Given the description of an element on the screen output the (x, y) to click on. 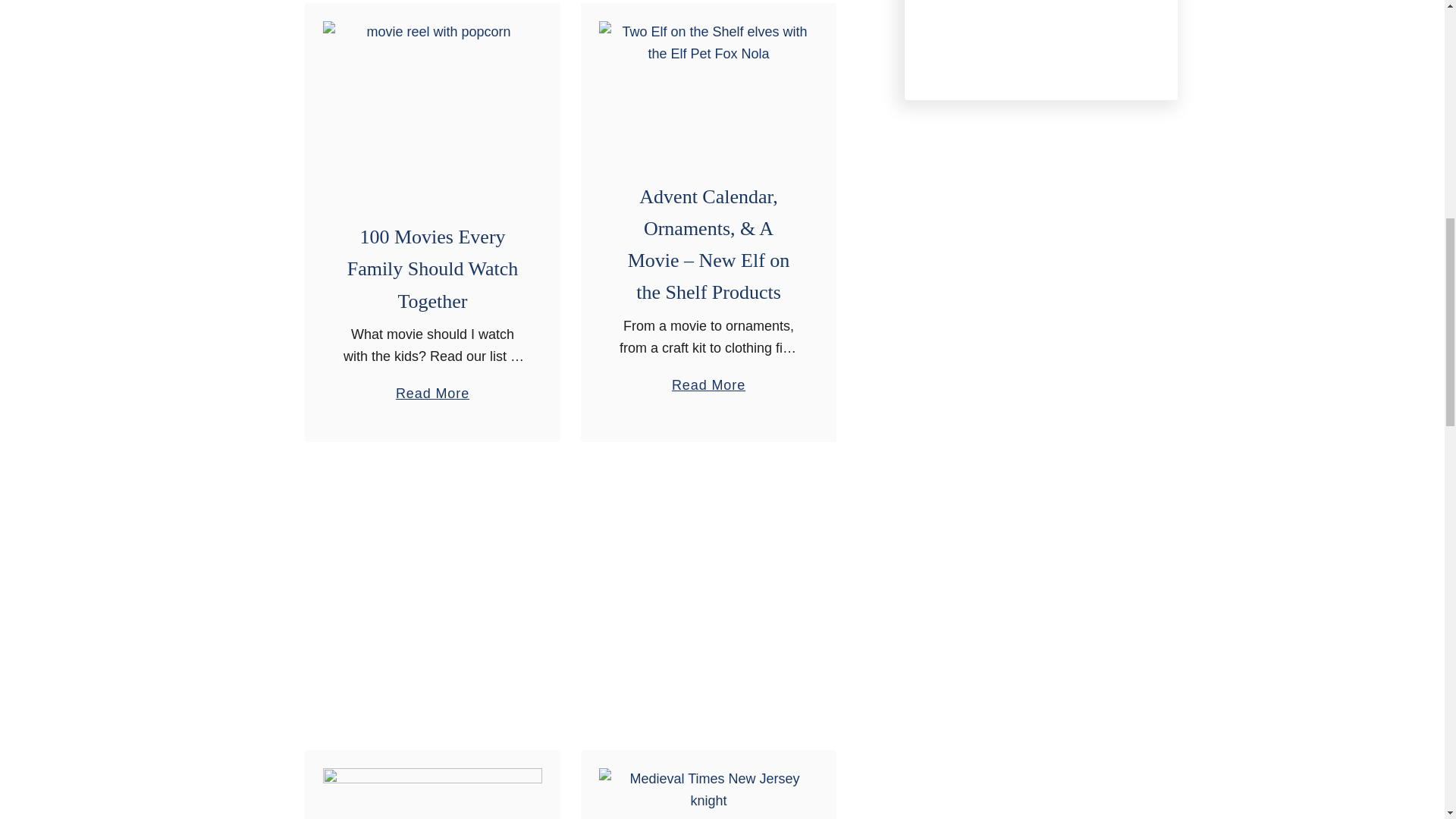
100 Movies Every Family Should Watch Together (432, 103)
10 Tips for a Medieval Times Dinner with Kids (708, 793)
